Given the description of an element on the screen output the (x, y) to click on. 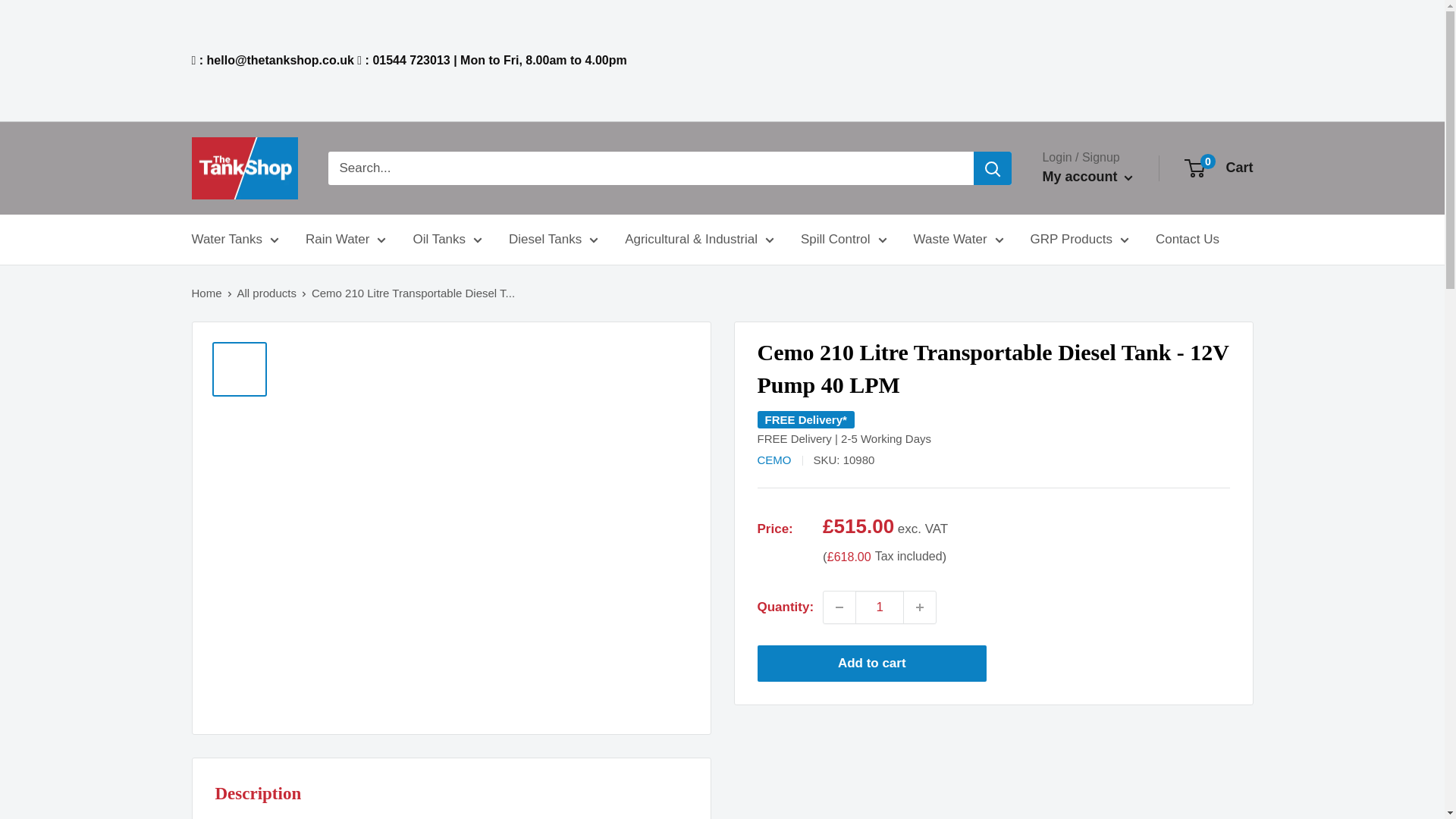
Reviews Badge Ribbon Widget (1131, 56)
Increase quantity by 1 (920, 607)
1 (880, 607)
Decrease quantity by 1 (840, 607)
: 01544 723013 (402, 60)
